Given the description of an element on the screen output the (x, y) to click on. 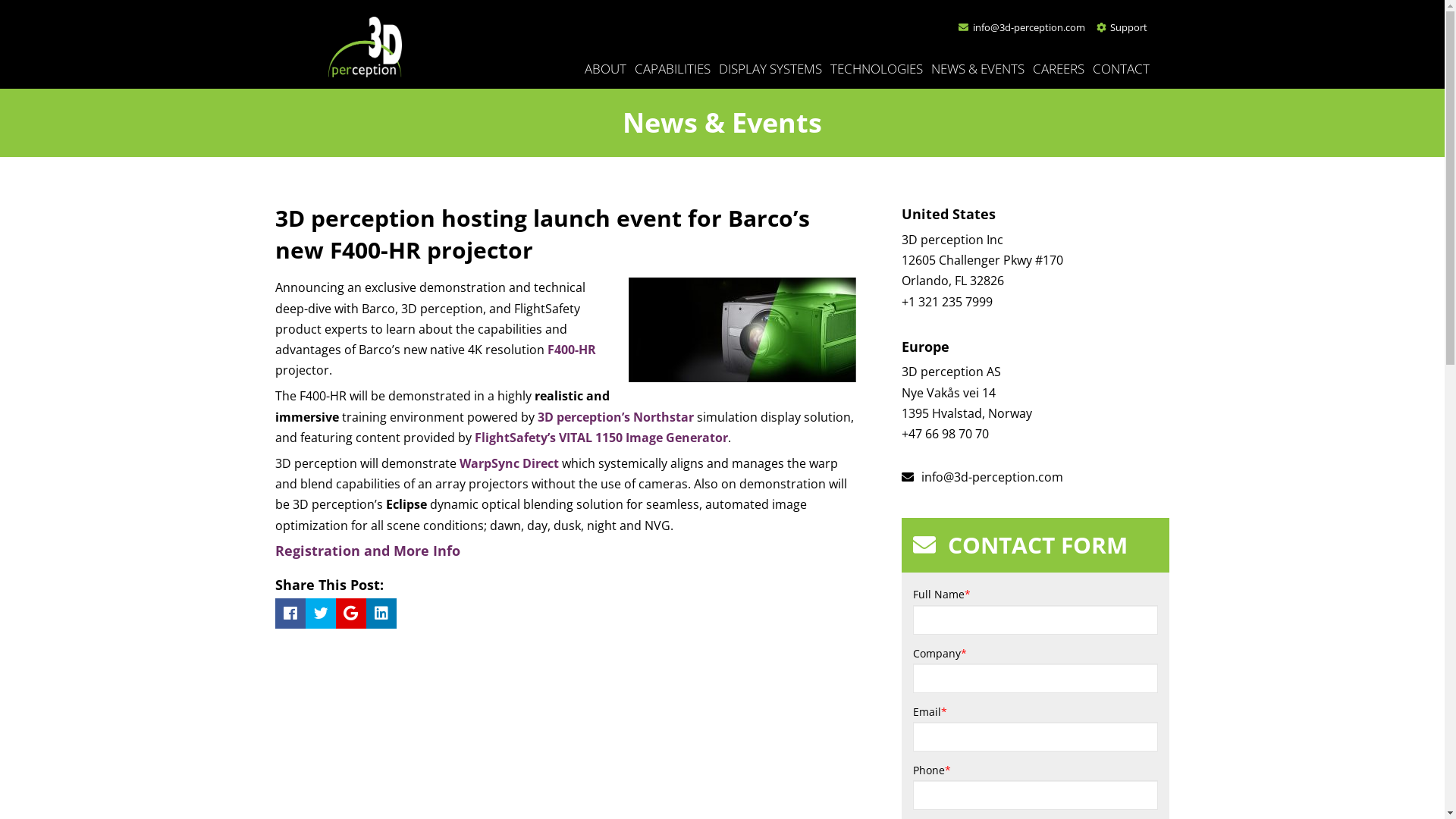
+47 66 98 70 70 Element type: text (944, 433)
Share on LinkedIn Element type: hover (380, 613)
Share on Google+ Element type: hover (350, 613)
Tweet Element type: hover (319, 613)
F400-HR Element type: text (571, 349)
+1 321 235 7999 Element type: text (946, 301)
TECHNOLOGIES Element type: text (878, 65)
CONTACT Element type: text (1123, 65)
Registration and More Info Element type: text (366, 550)
  info@3d-perception.com Element type: text (1021, 27)
DISPLAY SYSTEMS Element type: text (772, 65)
NEWS & EVENTS Element type: text (980, 65)
12605 Challenger Pkwy #170
Orlando, FL 32826 Element type: text (982, 269)
ABOUT Element type: text (606, 65)
CAPABILITIES Element type: text (674, 65)
Share on Facebook Element type: hover (289, 613)
Support Element type: text (1121, 27)
CAREERS Element type: text (1060, 65)
info@3d-perception.com Element type: text (982, 476)
WarpSync Direct Element type: text (508, 463)
